Given the description of an element on the screen output the (x, y) to click on. 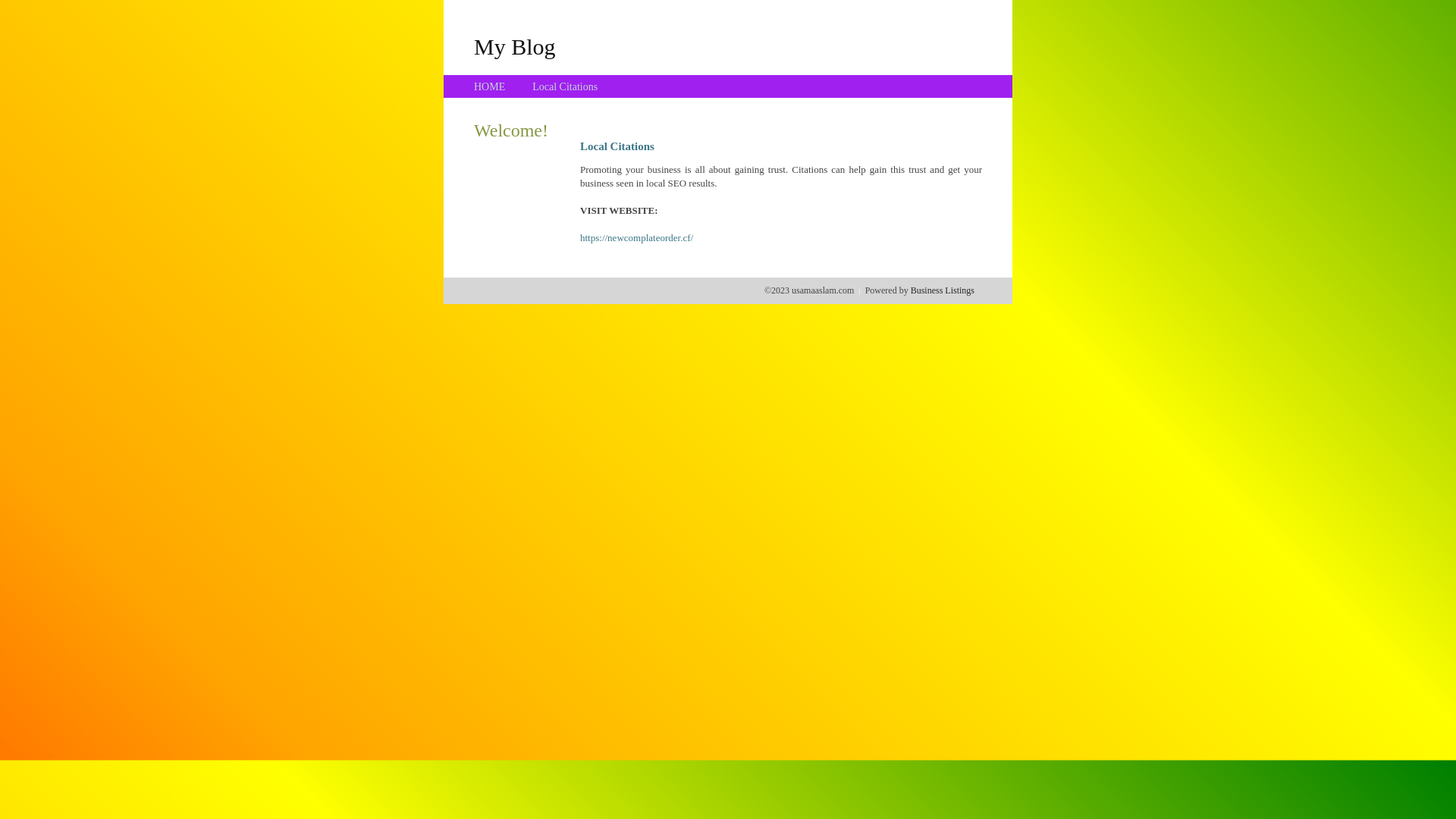
Local Citations Element type: text (564, 86)
Business Listings Element type: text (942, 290)
HOME Element type: text (489, 86)
https://newcomplateorder.cf/ Element type: text (636, 237)
My Blog Element type: text (514, 46)
